Given the description of an element on the screen output the (x, y) to click on. 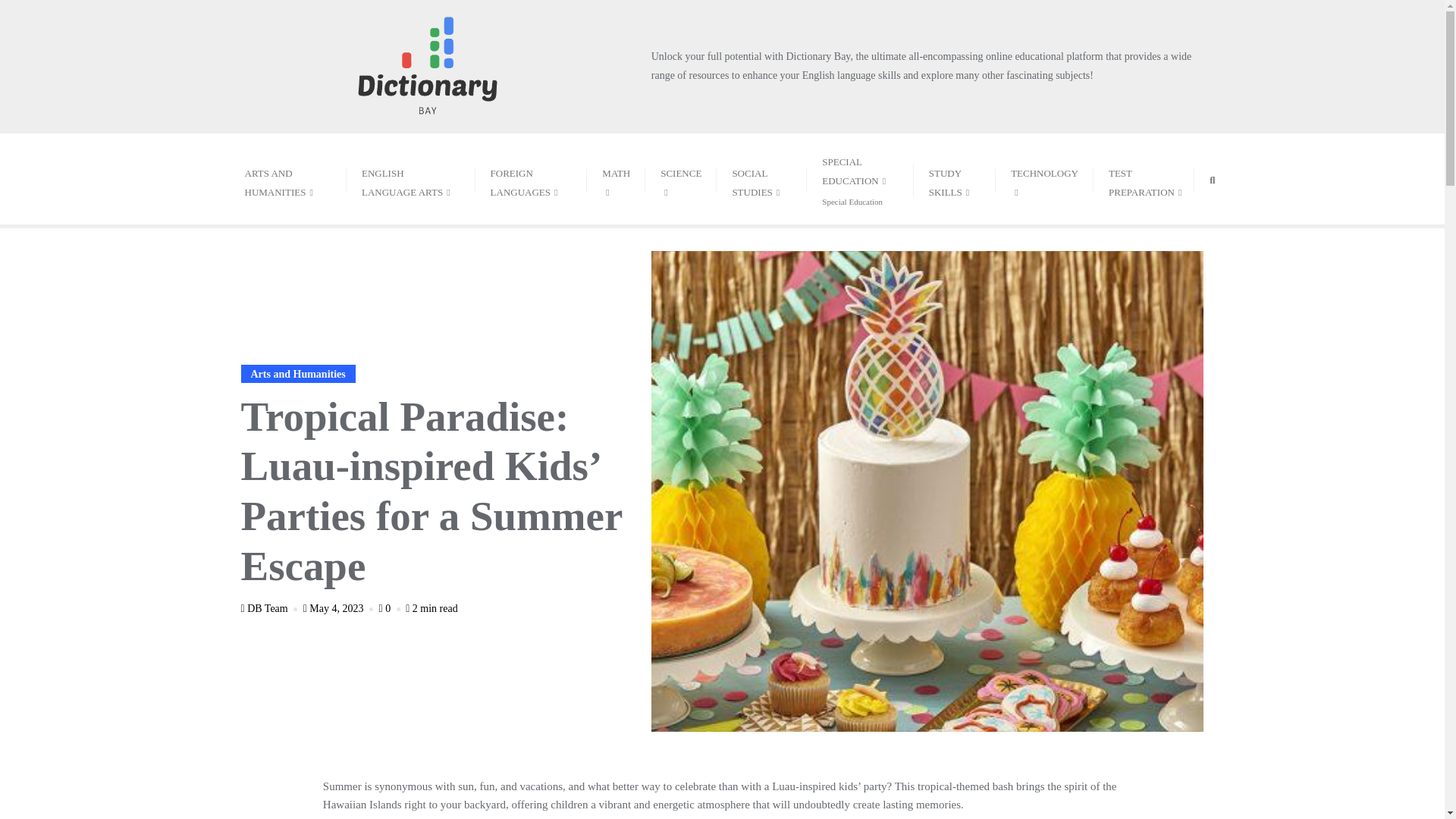
ENGLISH LANGUAGE ARTS (411, 178)
SCIENCE (680, 178)
ARTS AND HUMANITIES (859, 178)
STUDY SKILLS (287, 178)
SOCIAL STUDIES (954, 178)
FOREIGN LANGUAGES (761, 178)
